Given the description of an element on the screen output the (x, y) to click on. 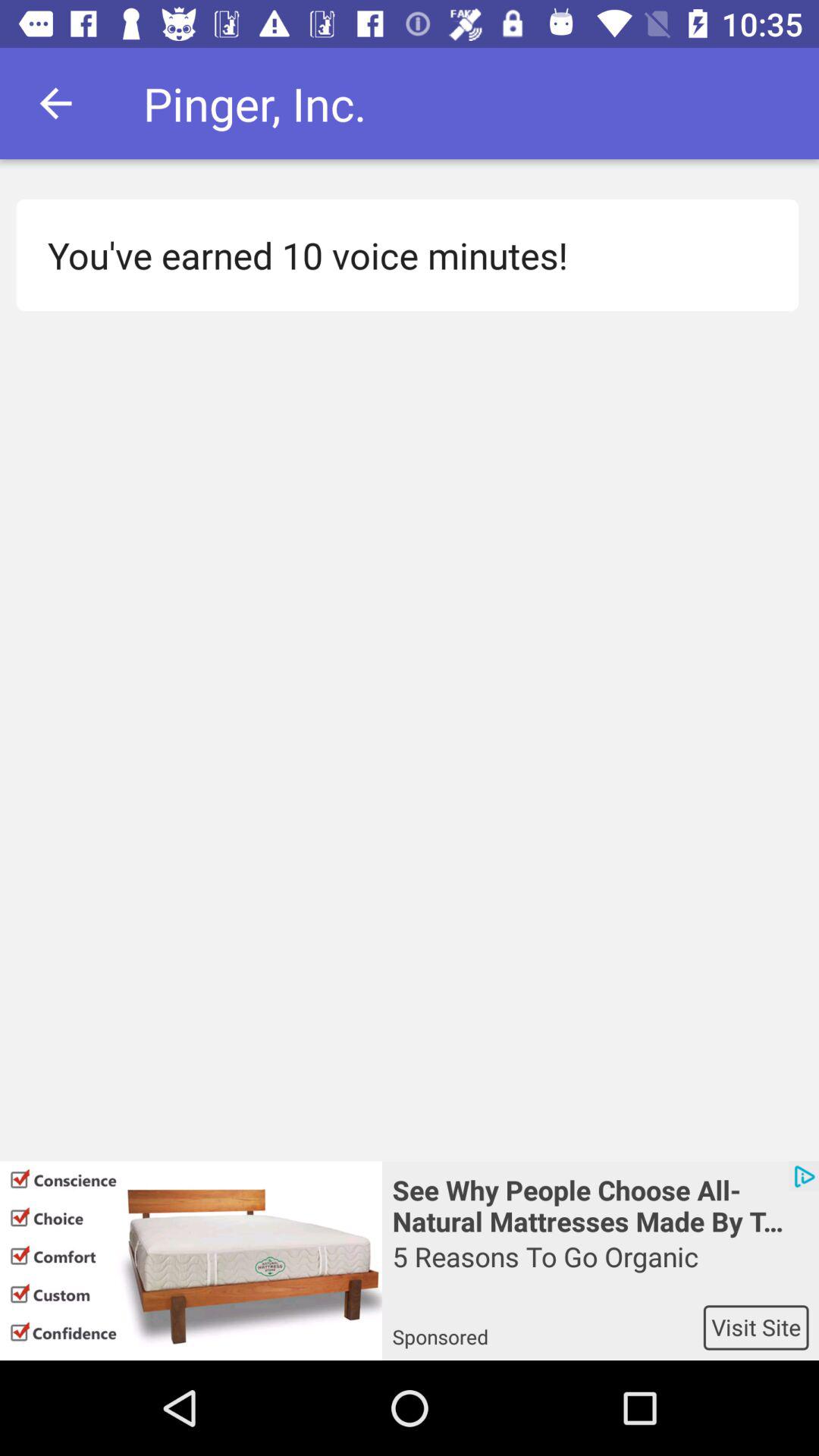
turn off the app next to visit site (547, 1327)
